Given the description of an element on the screen output the (x, y) to click on. 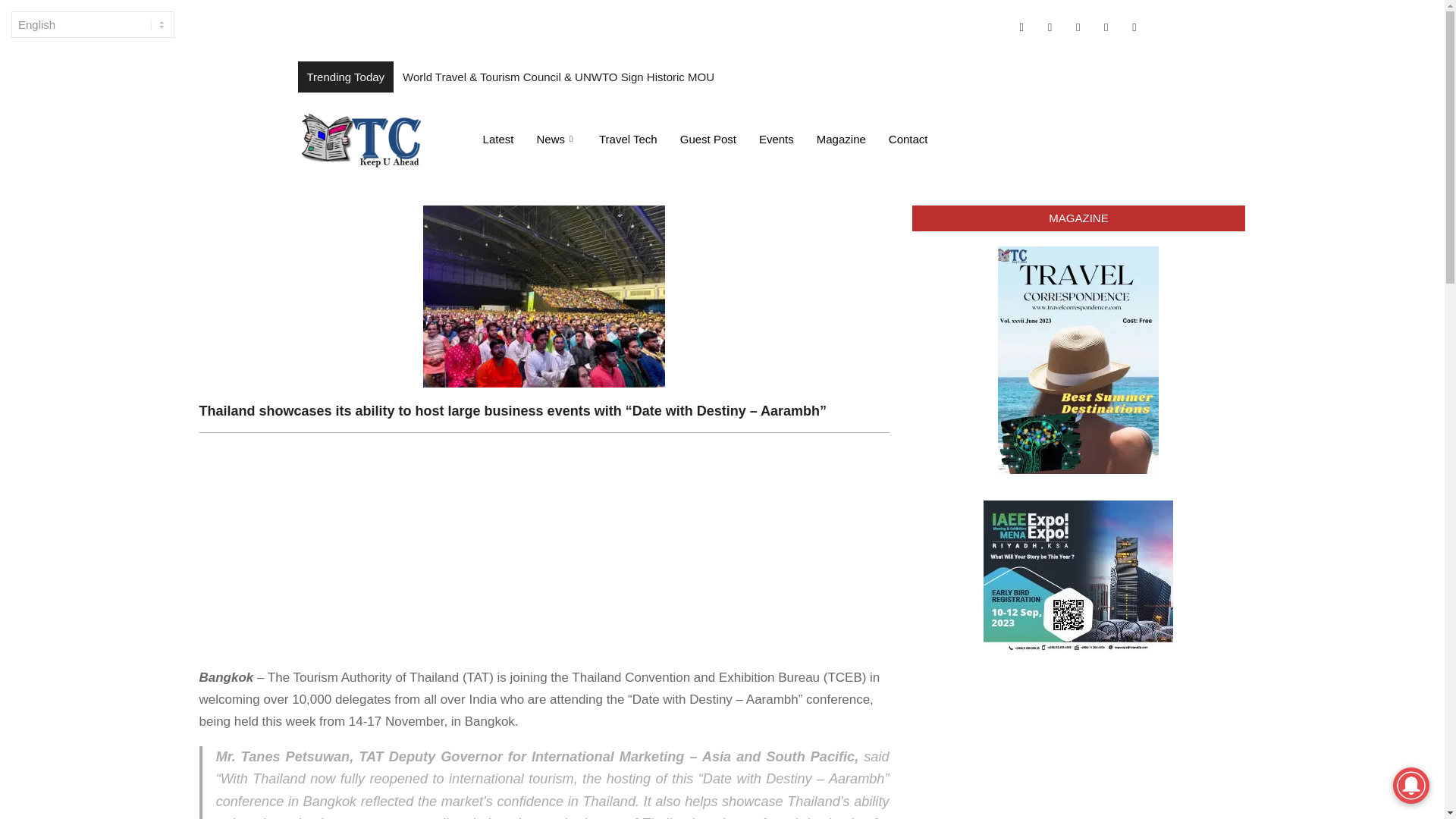
Magazine (841, 138)
Guest Post (708, 138)
Travel Tech (628, 138)
News (556, 138)
Events (776, 138)
Contact (908, 138)
Advertisement (543, 553)
